Given the description of an element on the screen output the (x, y) to click on. 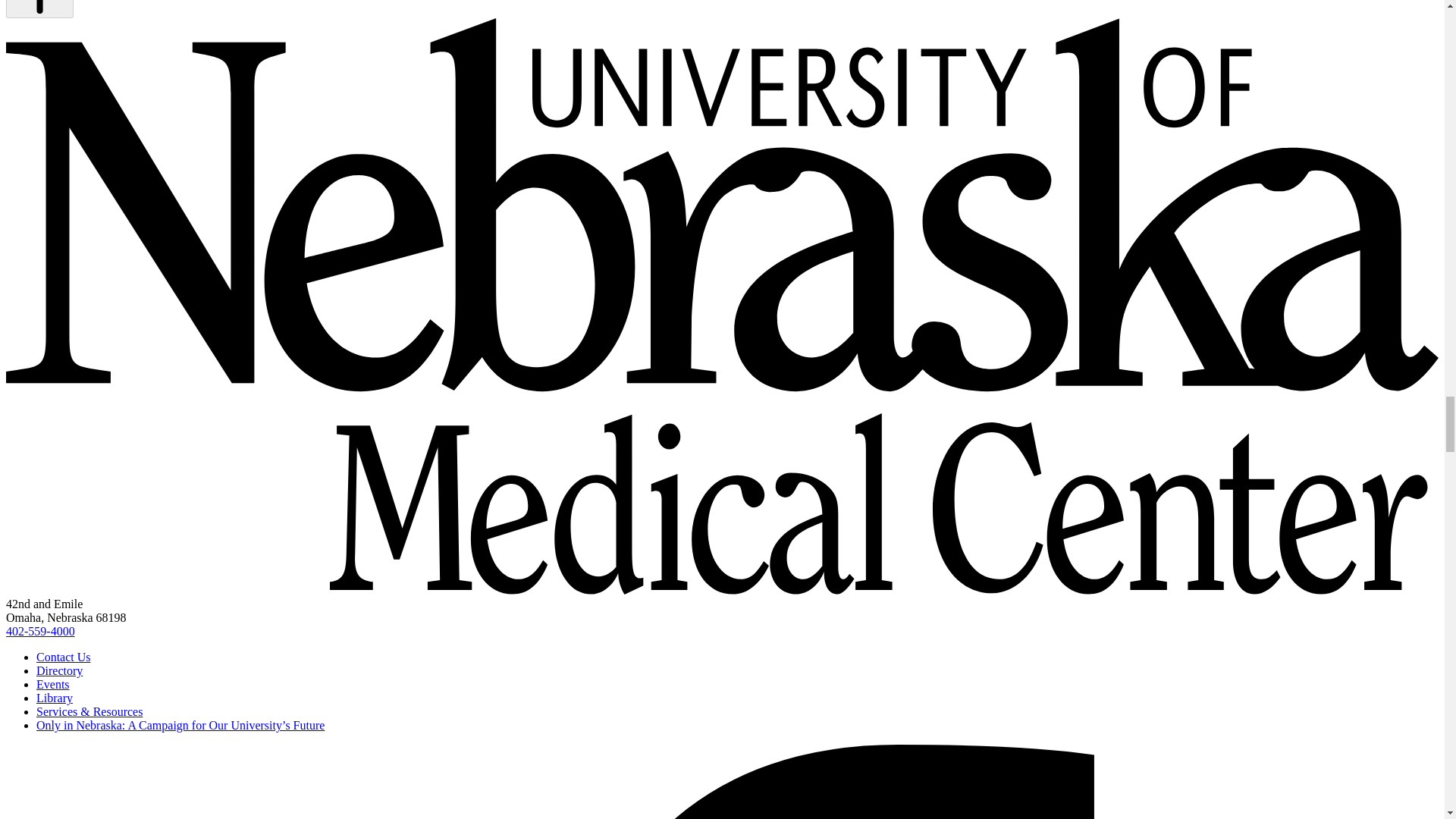
Back to Top (39, 9)
